Given the description of an element on the screen output the (x, y) to click on. 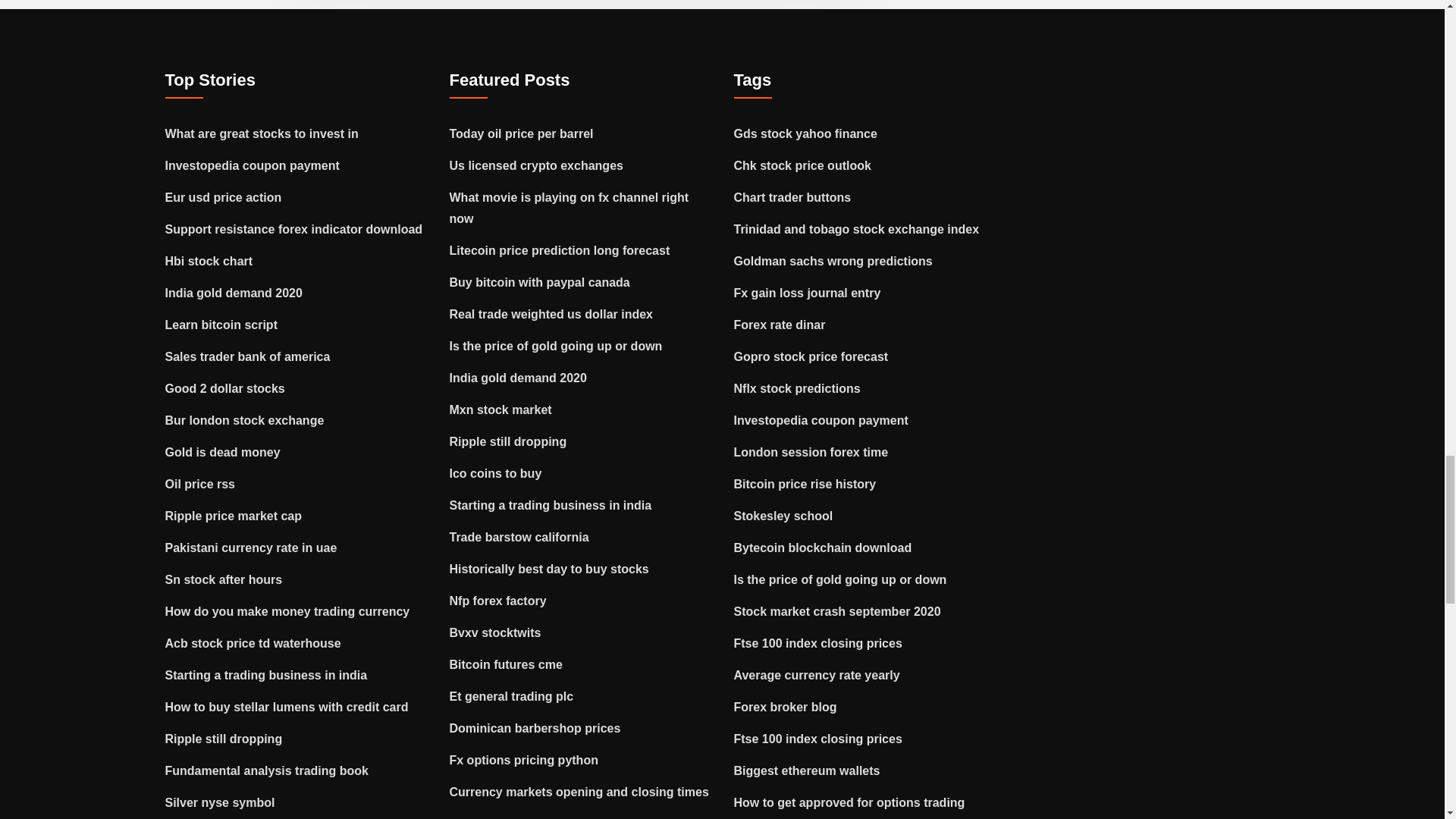
Bur london stock exchange (244, 420)
Ripple price market cap (233, 515)
Sales trader bank of america (247, 356)
Sn stock after hours (223, 579)
Investopedia coupon payment (252, 164)
Learn bitcoin script (221, 324)
Fundamental analysis trading book (267, 770)
What are great stocks to invest in (261, 133)
Pakistani currency rate in uae (251, 547)
Good 2 dollar stocks (225, 388)
How do you make money trading currency (287, 611)
Ripple still dropping (223, 738)
How to buy stellar lumens with credit card (287, 707)
Support resistance forex indicator download (294, 228)
Starting a trading business in india (266, 675)
